Given the description of an element on the screen output the (x, y) to click on. 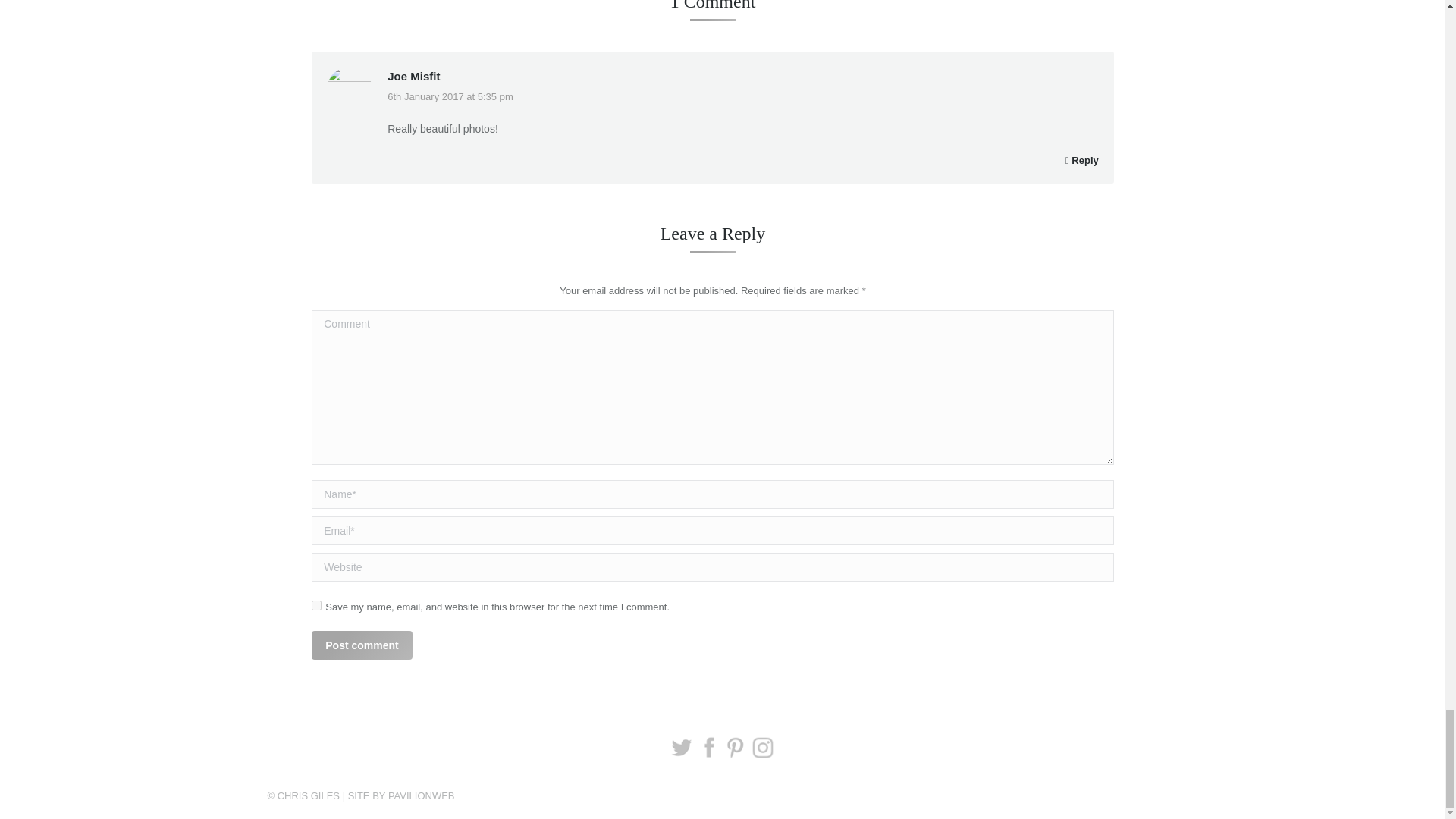
yes (316, 605)
